Given the description of an element on the screen output the (x, y) to click on. 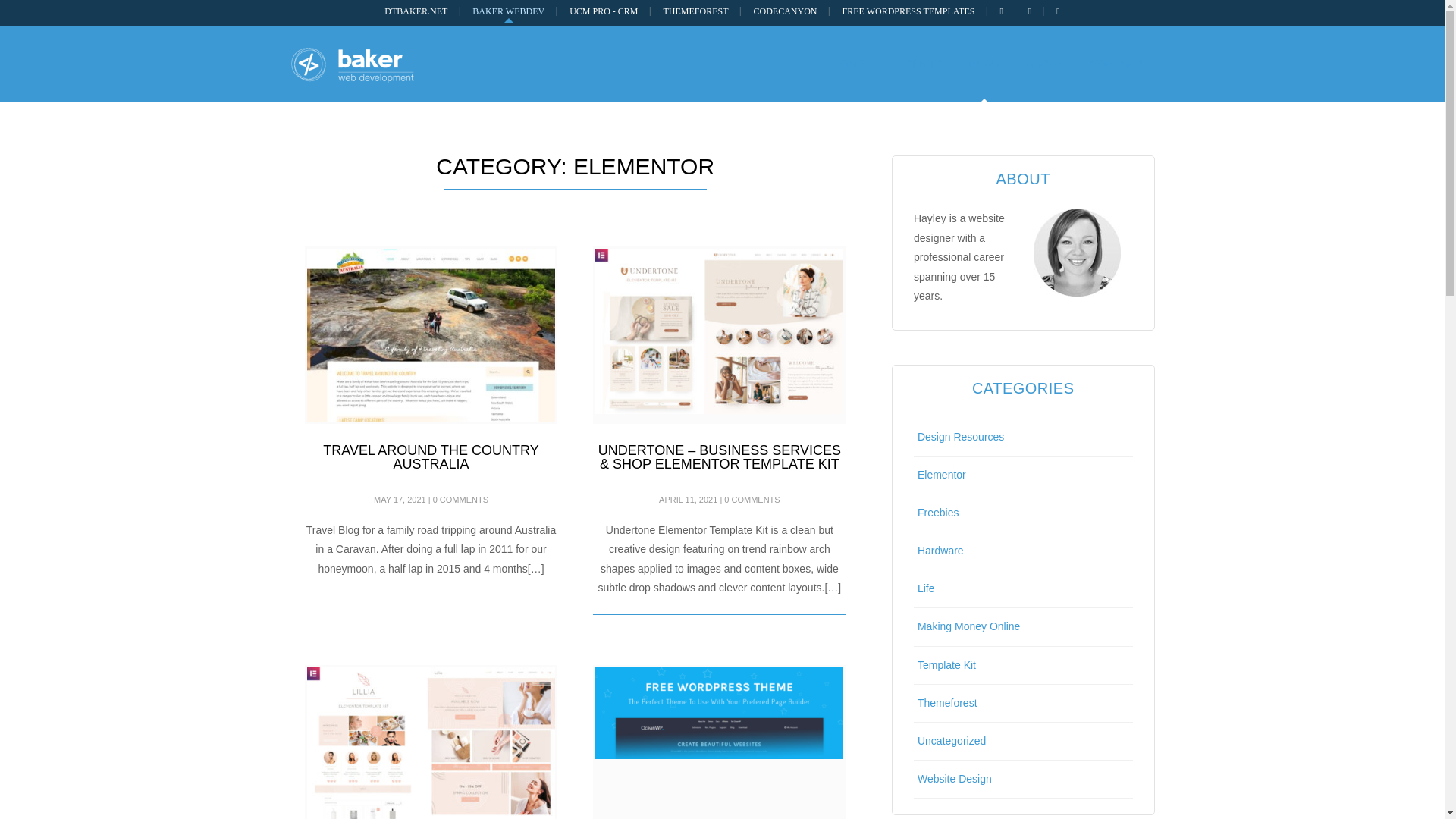
FREE WORDPRESS TEMPLATES (909, 10)
FREEBIES (917, 63)
UCM PRO - CRM (603, 10)
THEMEFOREST (695, 10)
APRIL 11, 2021 (688, 499)
BAKER WEBDEV (508, 10)
DTBAKER.NET (415, 10)
CODECANYON (785, 10)
MAY 17, 2021 (400, 499)
TRAVEL AROUND THE COUNTRY AUSTRALIA (430, 457)
